Given the description of an element on the screen output the (x, y) to click on. 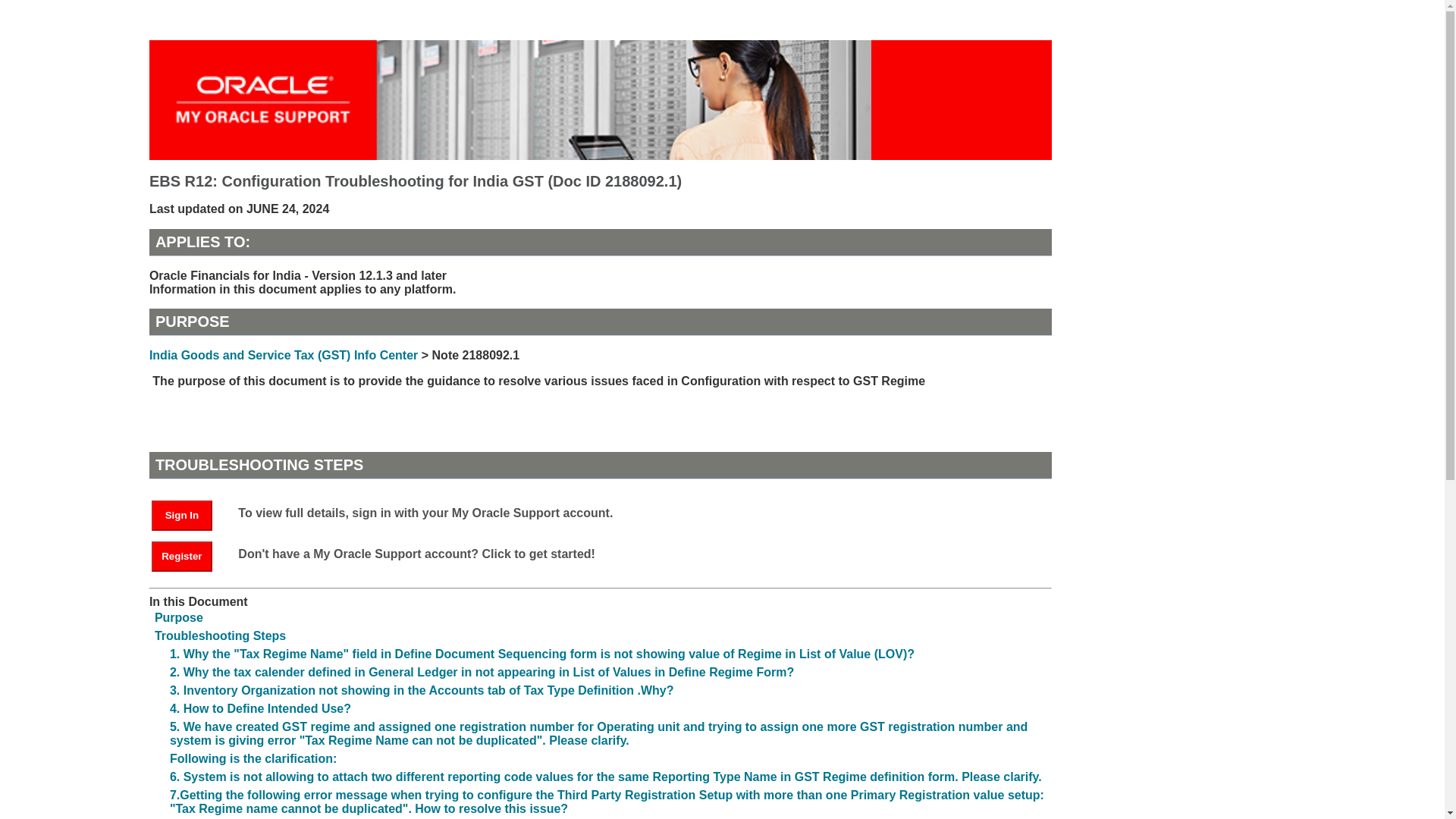
Purpose (178, 617)
Following is the clarification: (253, 758)
4. How to Define Intended Use? (260, 707)
Troubleshooting Steps (219, 635)
Register (189, 554)
Register (181, 556)
Sign In (181, 515)
Sign In (189, 513)
